Given the description of an element on the screen output the (x, y) to click on. 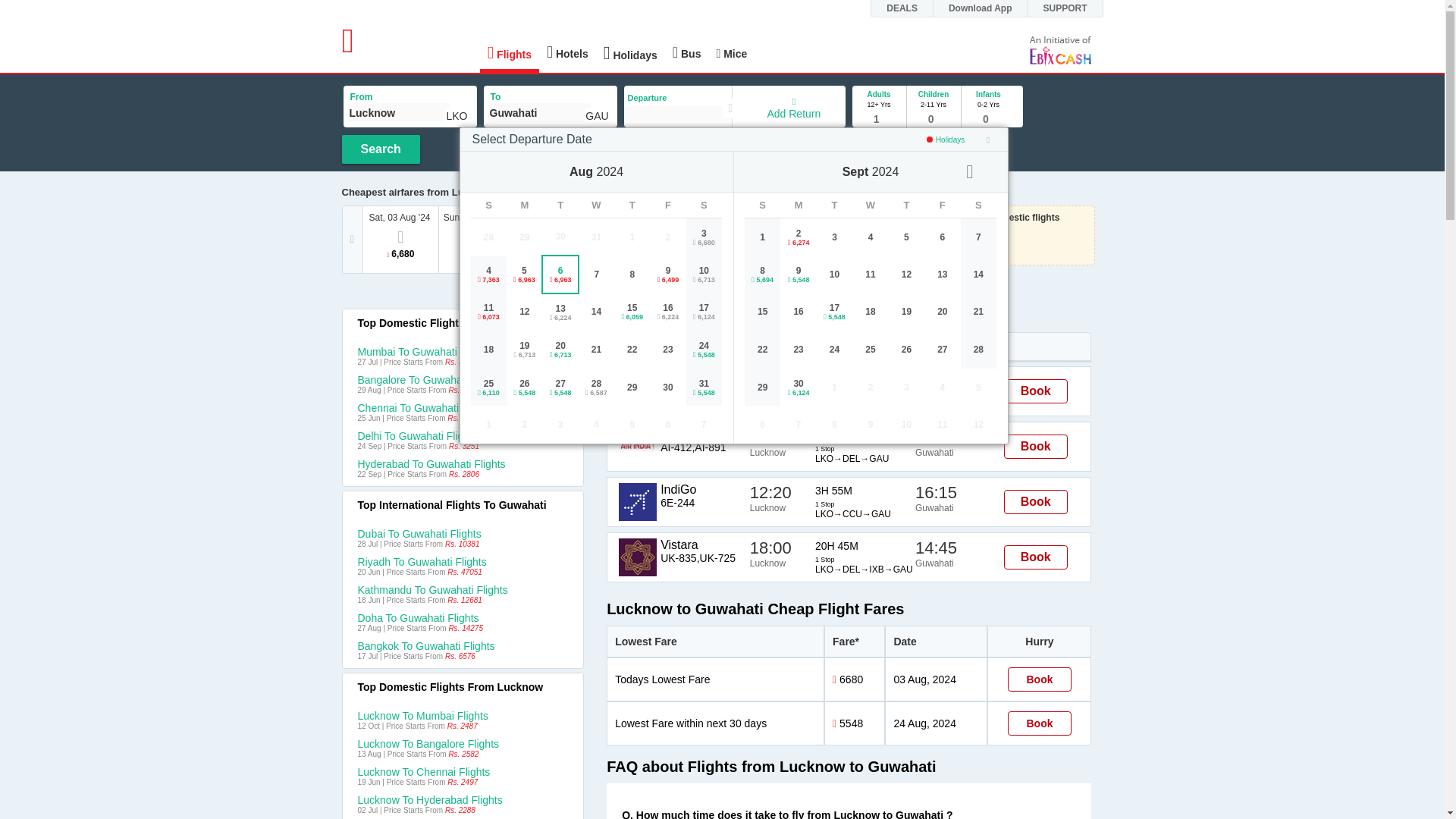
Hyderabad To Guwahati Flights (463, 463)
Bus (687, 51)
Book (1039, 679)
Search (379, 149)
Dubai To Guwahati Flights (463, 533)
Flights (509, 54)
Riyadh To Guwahati Flights (463, 562)
Chennai To Guwahati Flights (463, 408)
Hotels (566, 51)
Book (1035, 557)
